Given the description of an element on the screen output the (x, y) to click on. 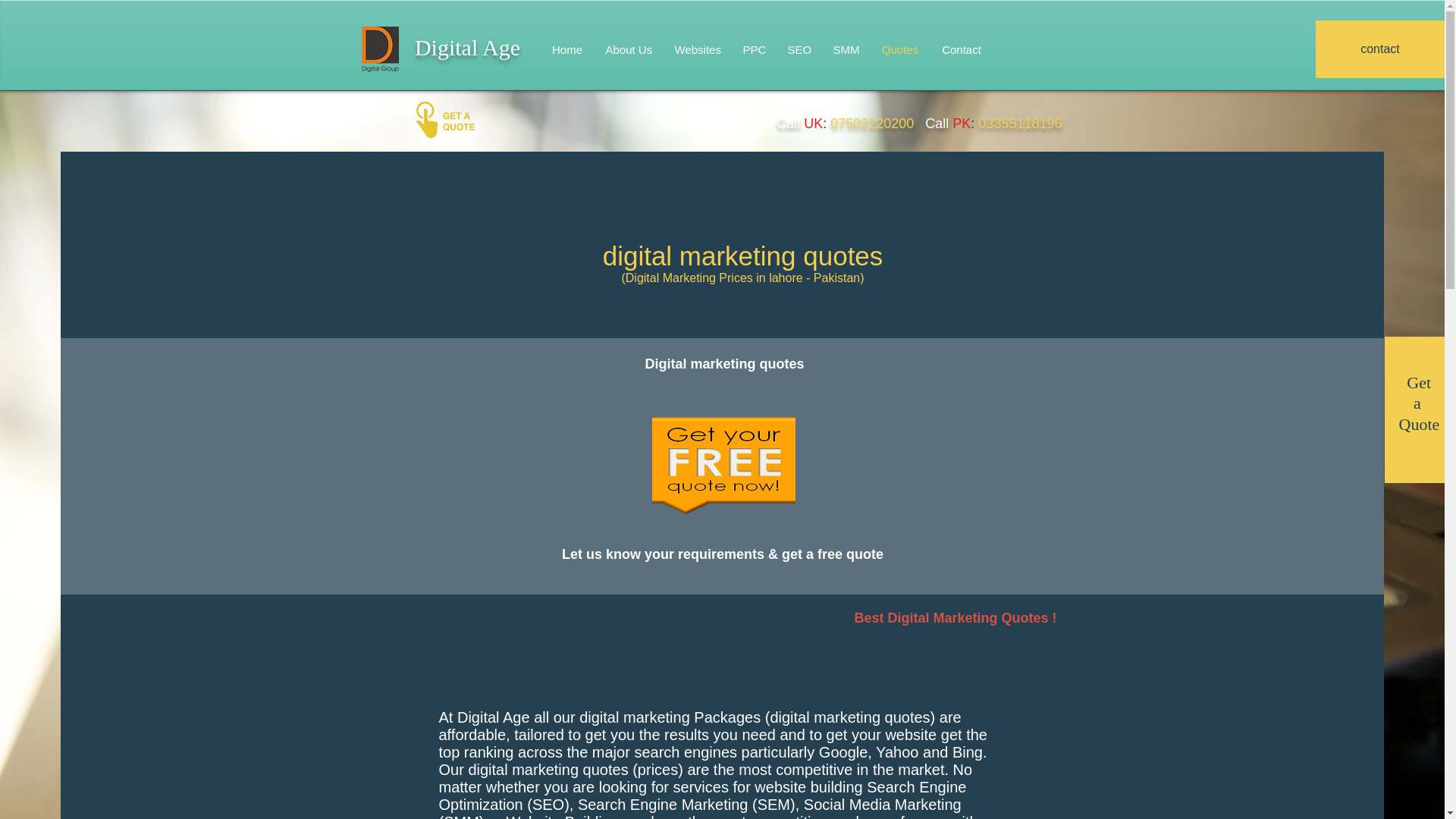
Home (567, 49)
Websites (696, 49)
Get  (1420, 382)
SMM (461, 816)
Quotes (900, 49)
Contact (961, 49)
Digital Age (466, 47)
Quote (1419, 423)
SMM (846, 49)
Bin (963, 751)
SEM (773, 804)
SEO (799, 49)
SEO (548, 804)
PPC (753, 49)
About Us (628, 49)
